Given the description of an element on the screen output the (x, y) to click on. 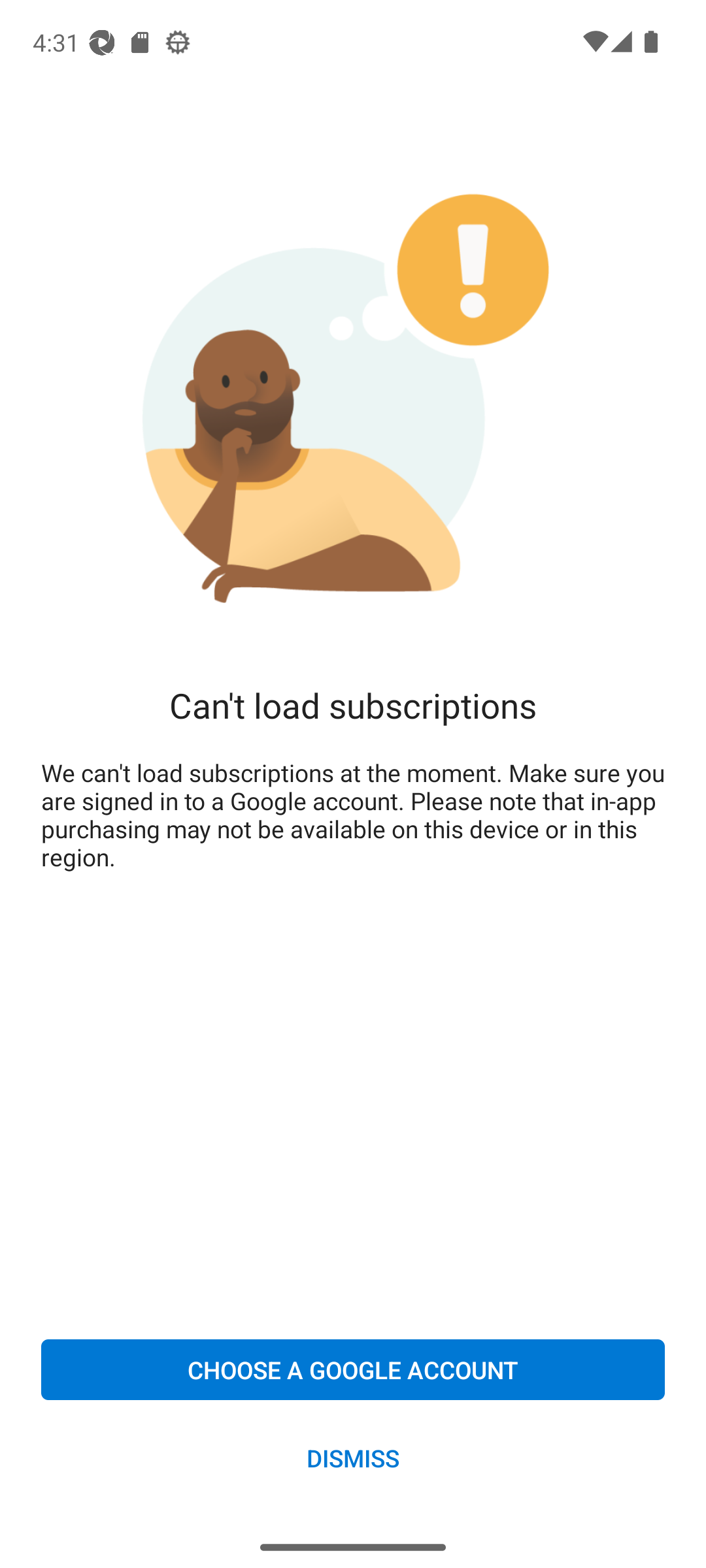
CHOOSE A GOOGLE ACCOUNT (352, 1369)
DISMISS (352, 1457)
